Given the description of an element on the screen output the (x, y) to click on. 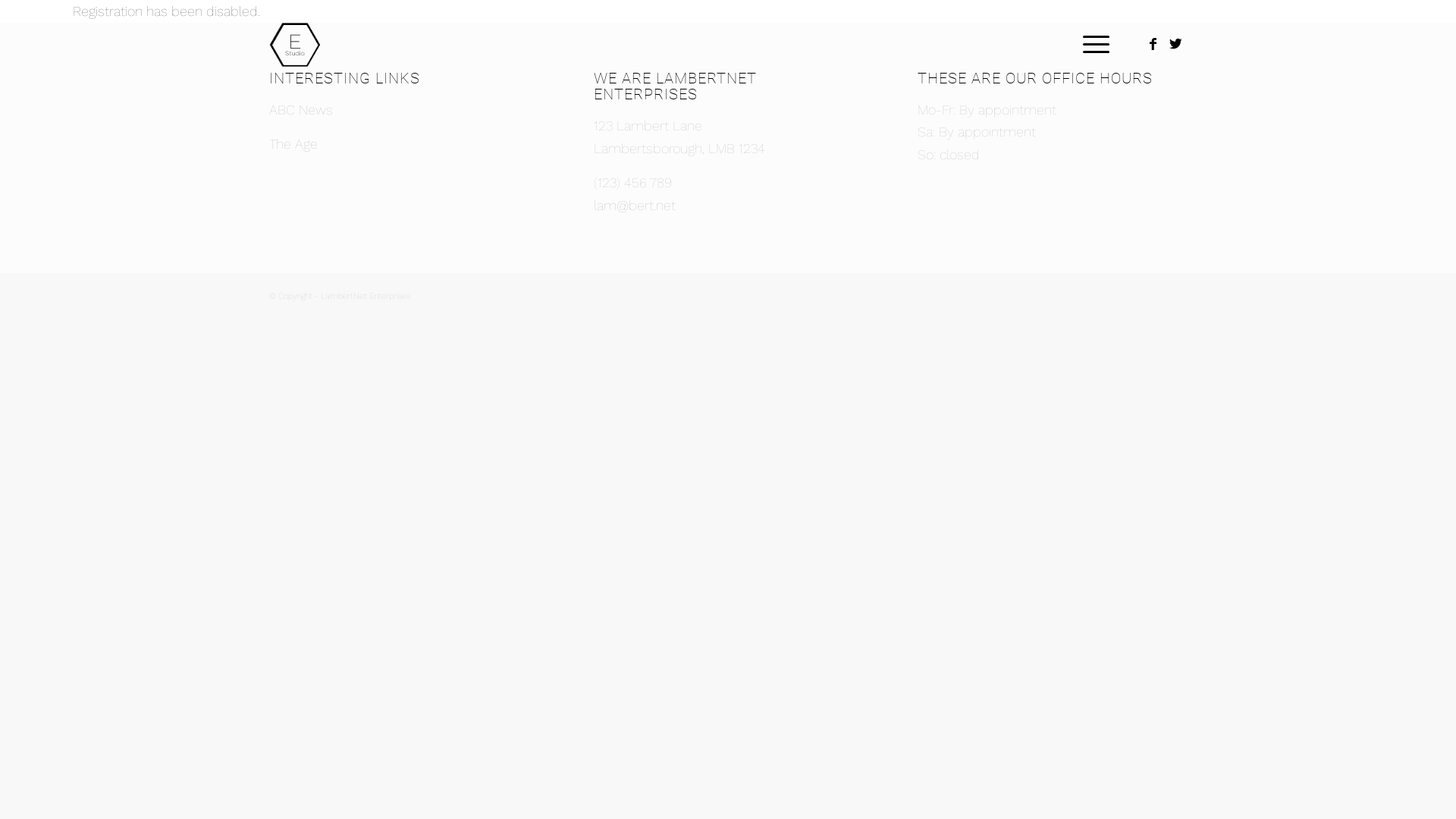
logo Element type: hover (313, 44)
The Age Element type: text (293, 143)
ABC News Element type: text (300, 109)
Twitter Element type: hover (1175, 43)
Facebook Element type: hover (1152, 43)
lam@bert.net Element type: text (634, 205)
